Given the description of an element on the screen output the (x, y) to click on. 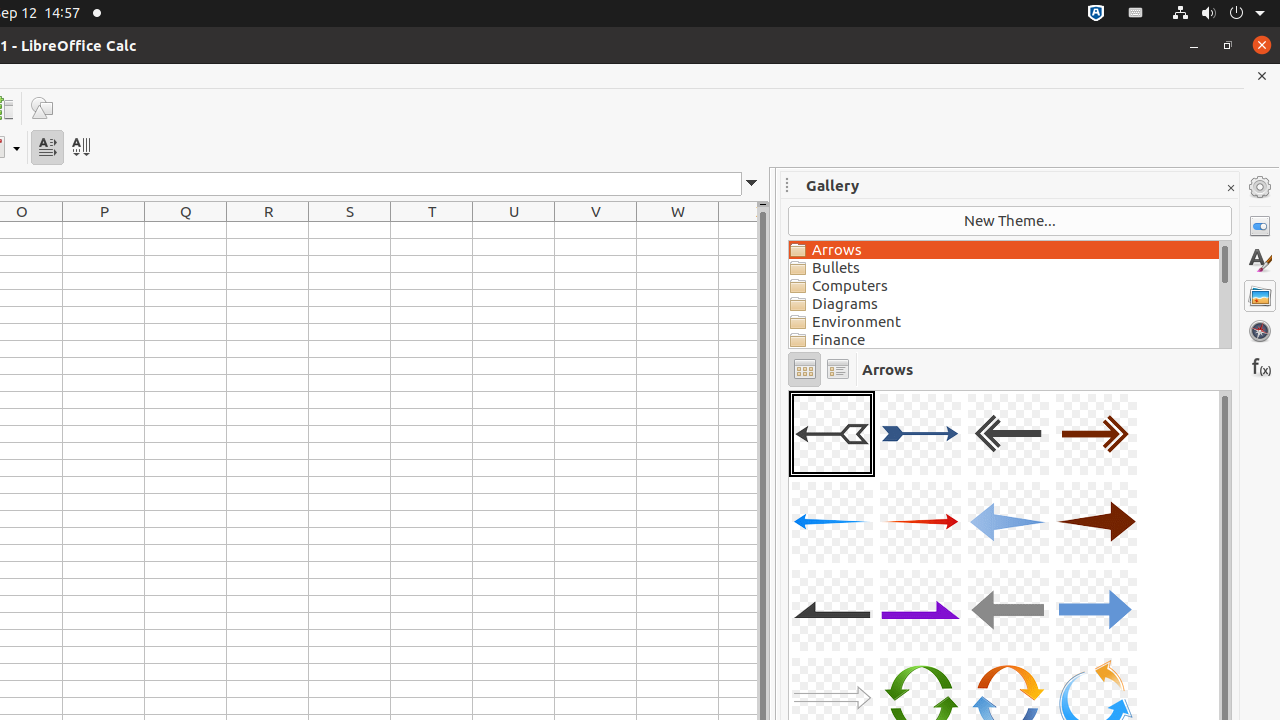
A08-Arrow-DarkRed-Right Element type: list-item (1096, 522)
T1 Element type: table-cell (432, 230)
A01-Arrow-Gray-Left Element type: list-item (832, 433)
A47-TrendArrow-LightBlue Element type: list-item (789, 390)
New Theme Element type: push-button (1010, 221)
